Given the description of an element on the screen output the (x, y) to click on. 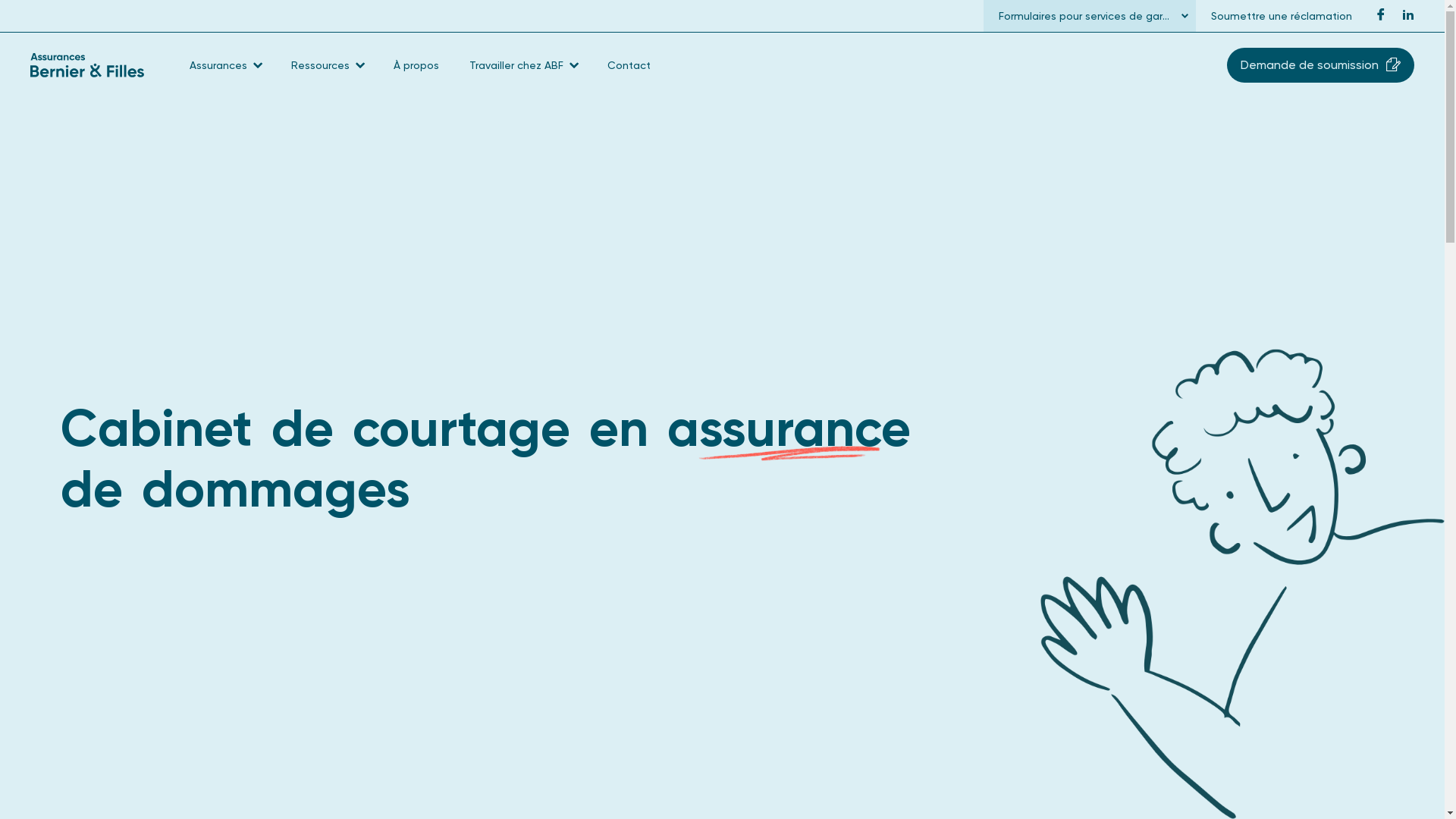
Demande de soumission Element type: text (1320, 64)
Contact Element type: text (628, 65)
